Given the description of an element on the screen output the (x, y) to click on. 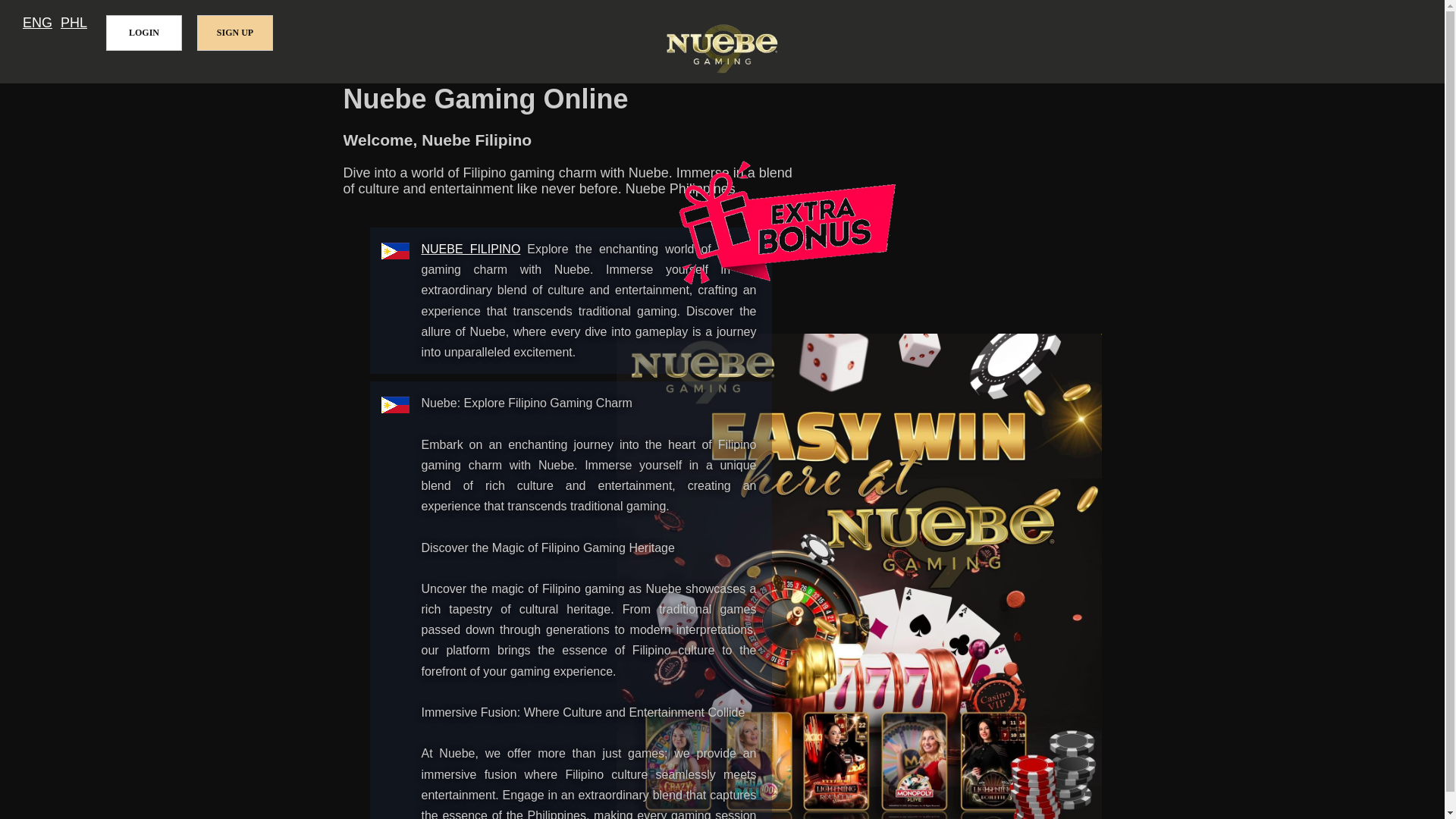
NUEBE FILIPINO (471, 248)
Filipino (74, 23)
PHL (74, 23)
LOGIN (144, 32)
ENG (37, 23)
SIGN UP (234, 32)
English (37, 23)
Nuebe Filipino Logo (721, 49)
Nuebe Filipino (471, 248)
